Given the description of an element on the screen output the (x, y) to click on. 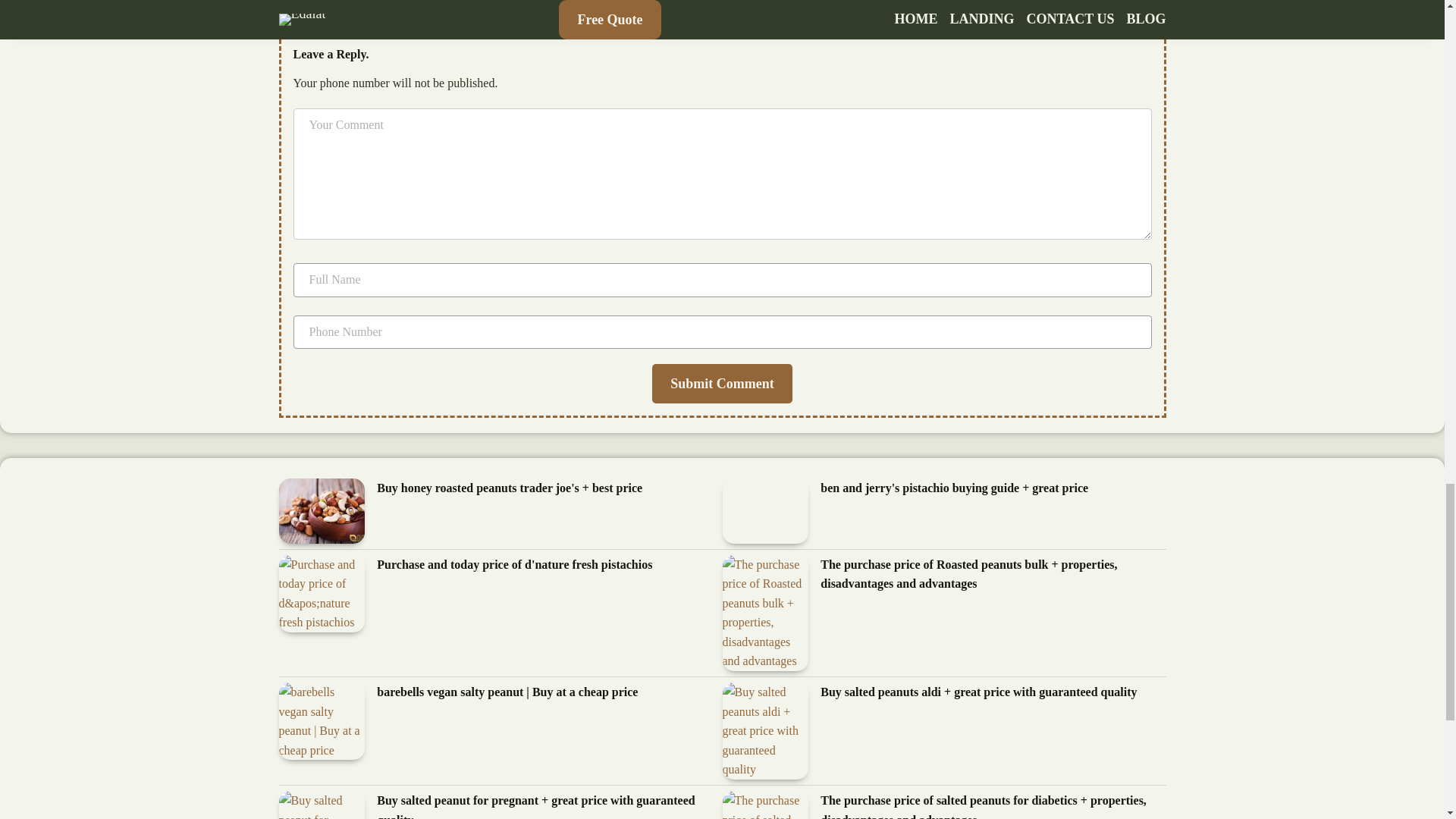
Purchase and today price of d'nature fresh pistachios (514, 565)
Submit Comment (722, 383)
Submit Comment (722, 383)
